Given the description of an element on the screen output the (x, y) to click on. 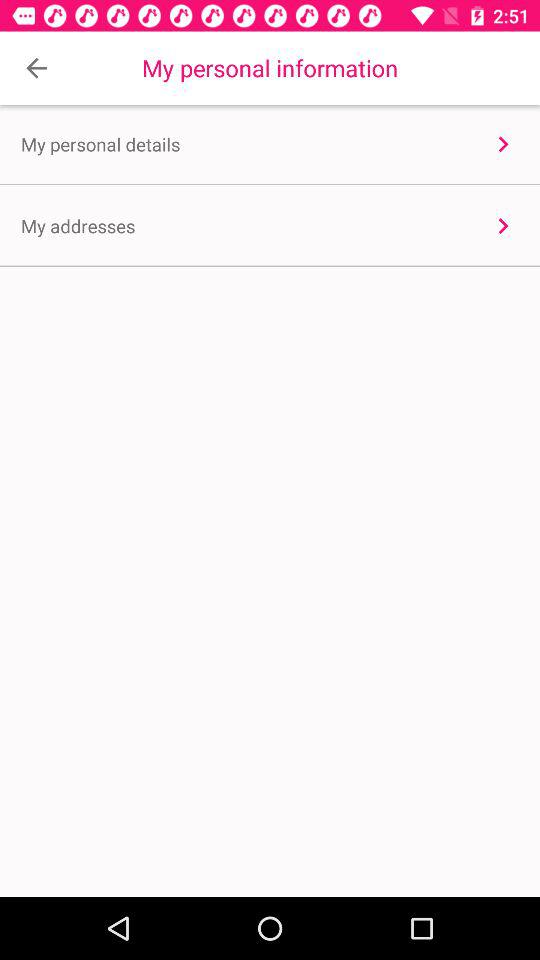
launch item to the left of the my personal information item (36, 68)
